Given the description of an element on the screen output the (x, y) to click on. 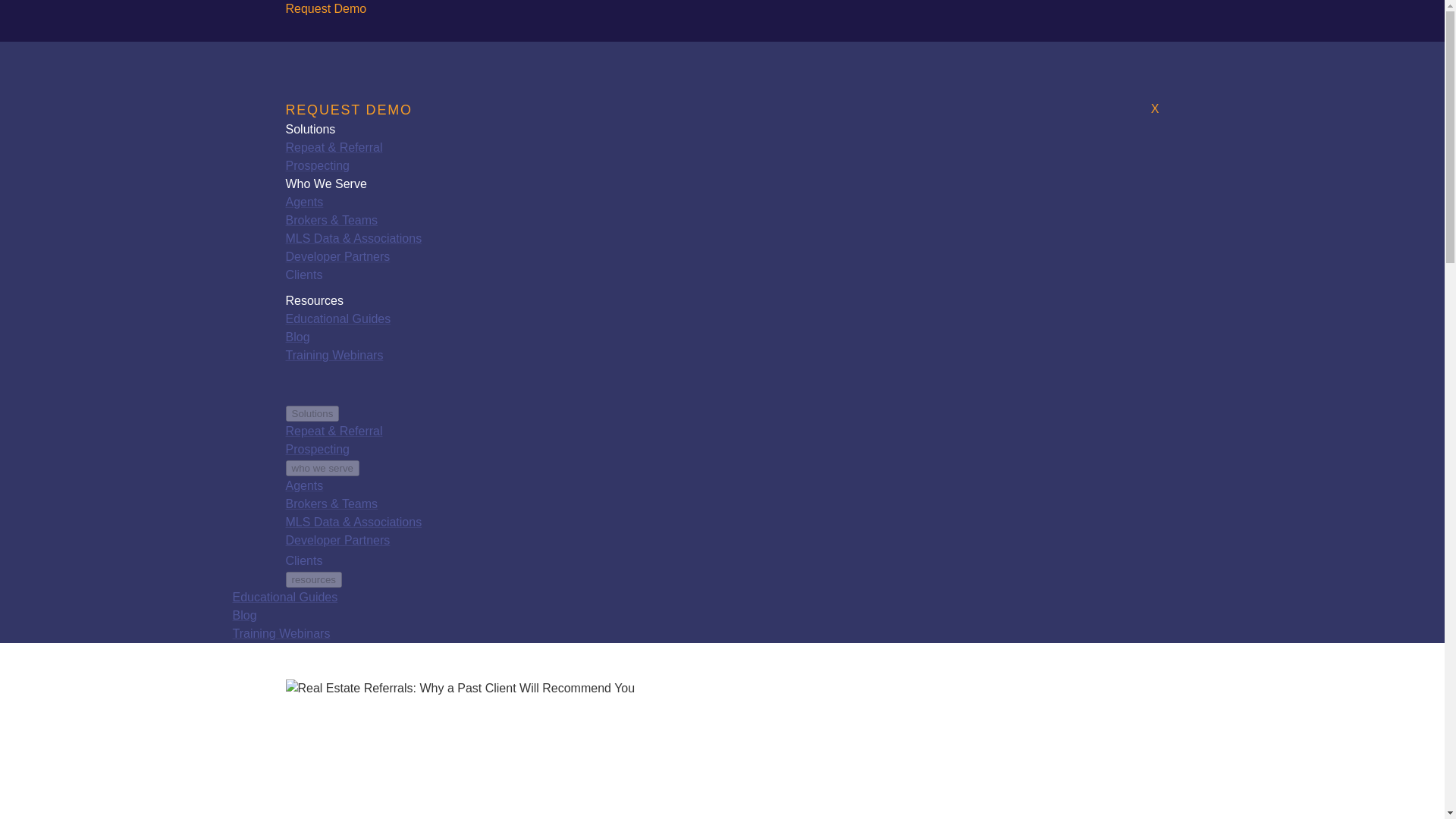
Clients (303, 560)
Request Demo (325, 8)
Educational Guides (337, 318)
Solutions (312, 413)
Developer Partners (337, 540)
who we serve (322, 467)
Prospecting (317, 449)
Educational Guides (284, 596)
Blog (243, 615)
Agents (304, 201)
Clients (303, 274)
Agents (304, 485)
REQUEST DEMO (348, 110)
resources (313, 579)
Developer Partners (337, 256)
